Given the description of an element on the screen output the (x, y) to click on. 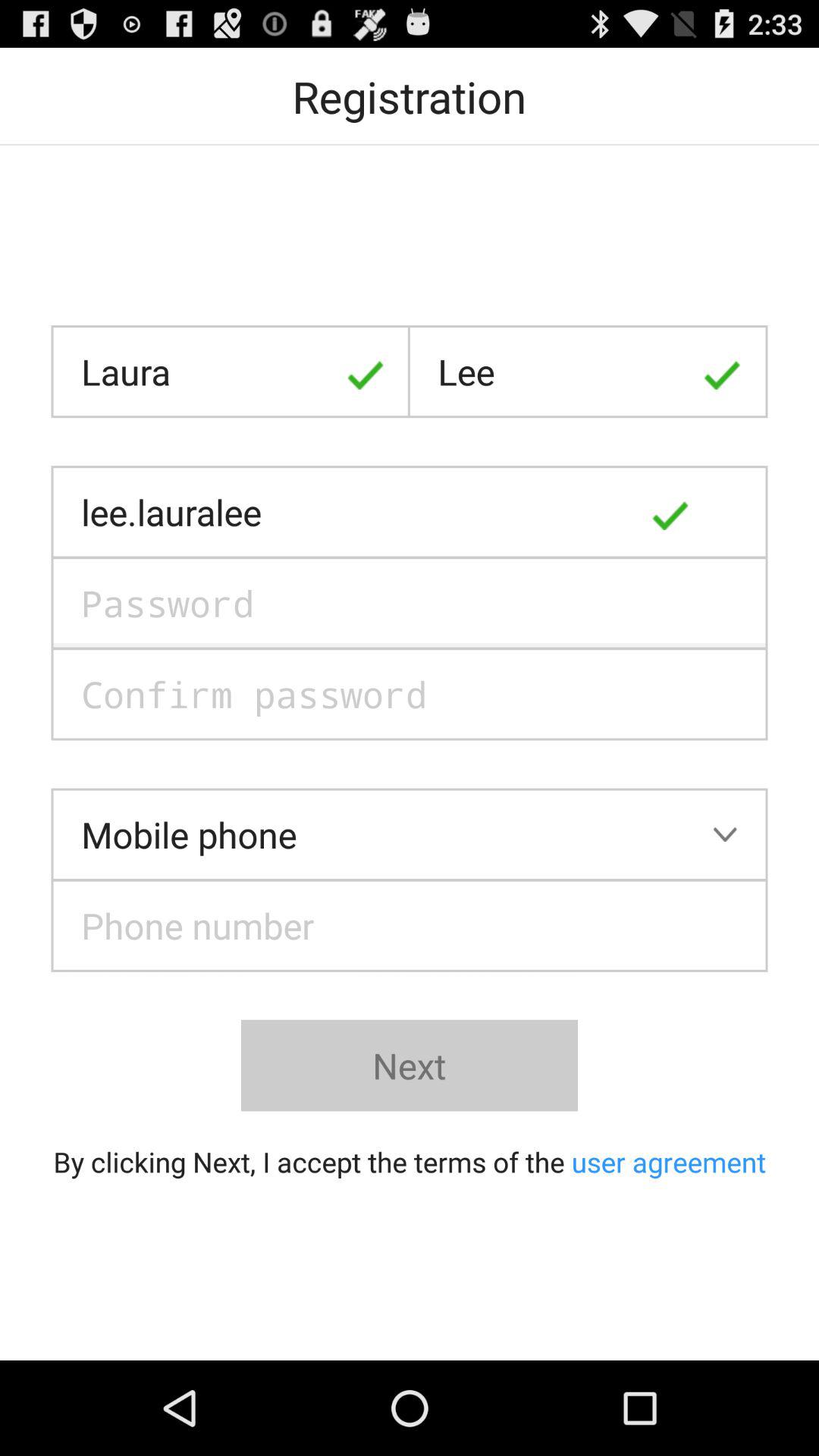
jump until the laura icon (231, 371)
